Given the description of an element on the screen output the (x, y) to click on. 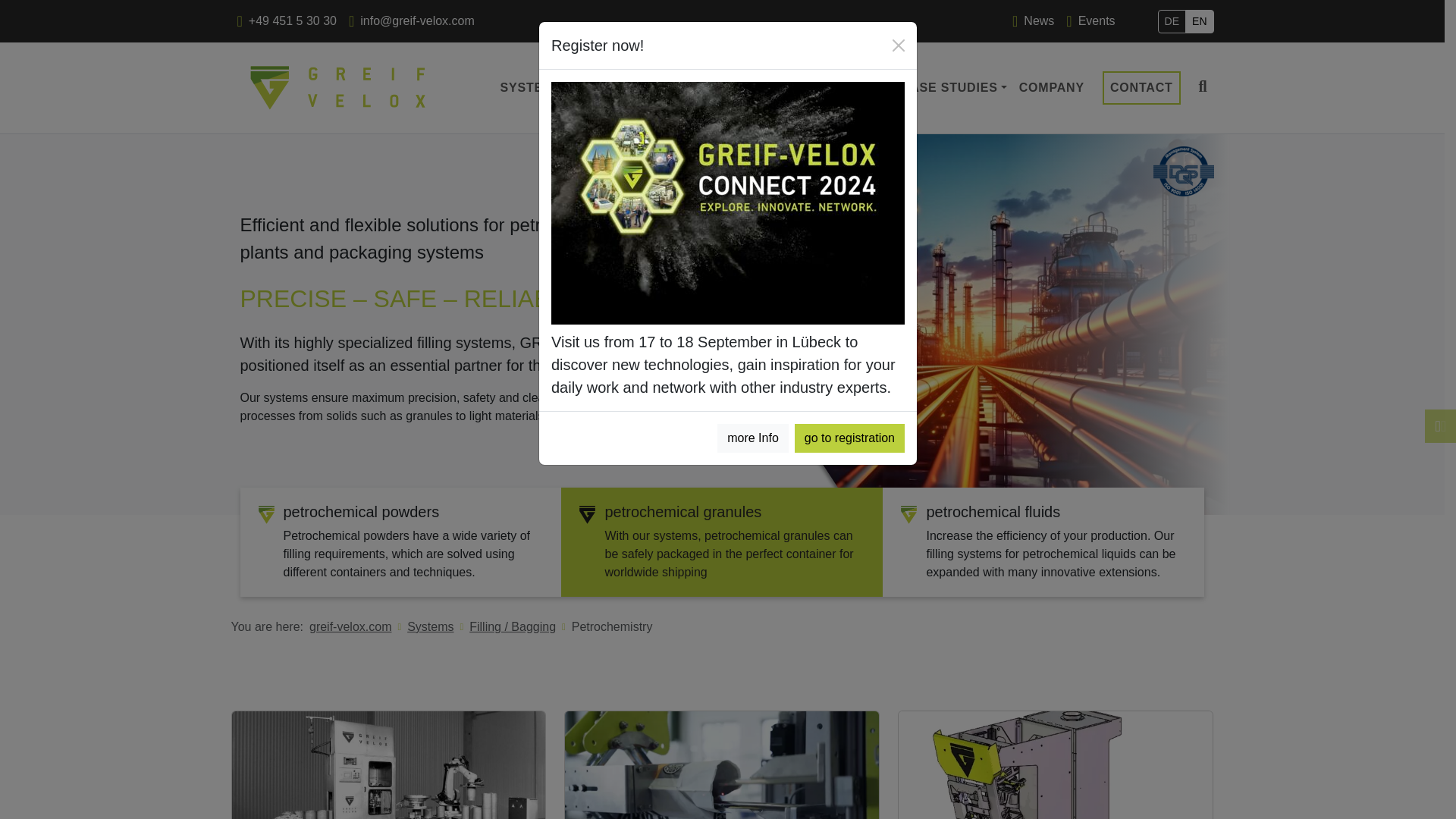
Systems (534, 87)
Events from GREIF-VELOX (1090, 20)
Send mail (411, 20)
Systems (429, 626)
Call is now (286, 20)
Filling systems for petrochemical liquids (1198, 20)
CUSTOMER SERVICE (816, 87)
News (1032, 20)
EN (1198, 20)
CASE STUDIES (954, 87)
